Given the description of an element on the screen output the (x, y) to click on. 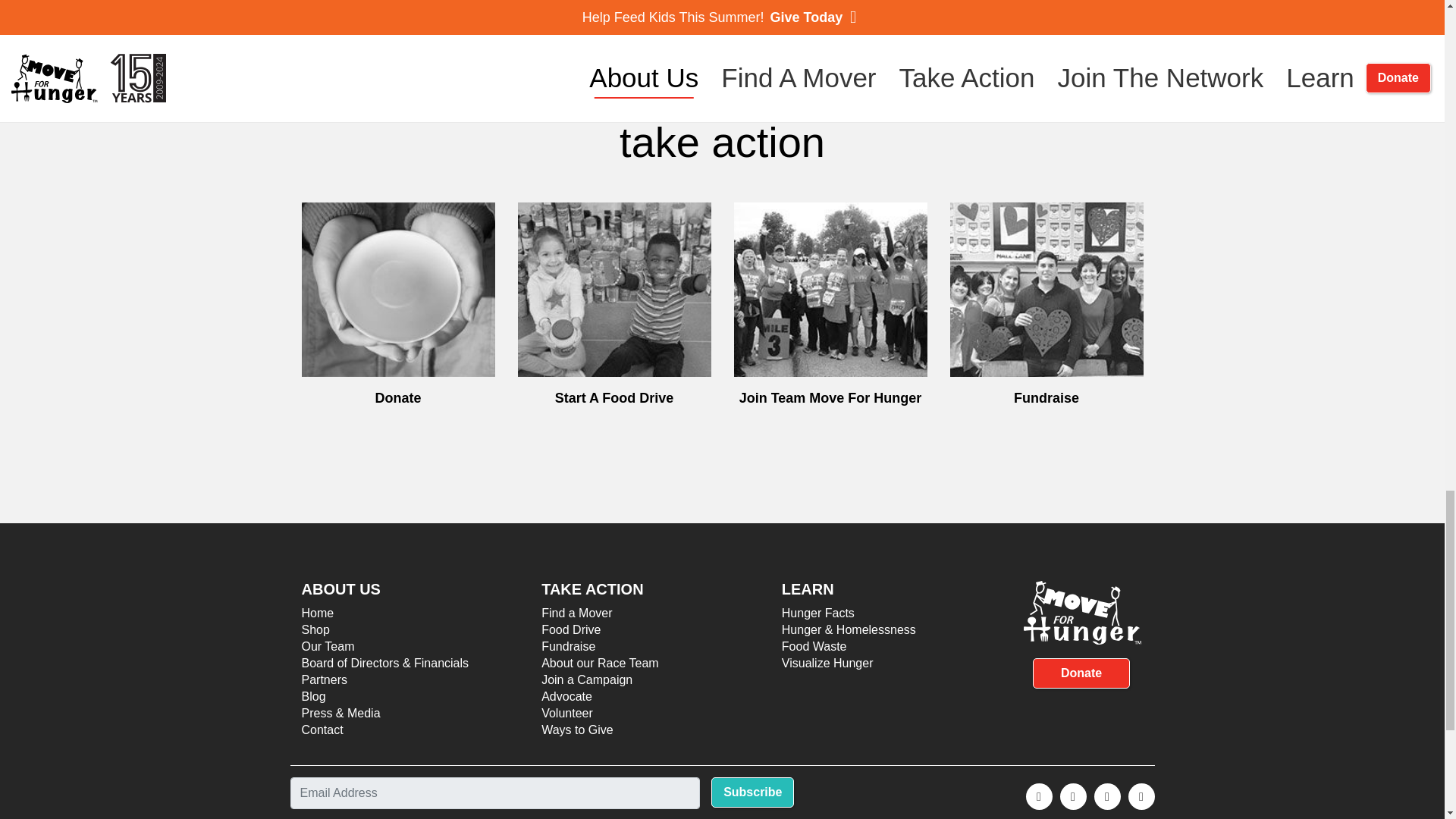
Subscribe (752, 792)
